Given the description of an element on the screen output the (x, y) to click on. 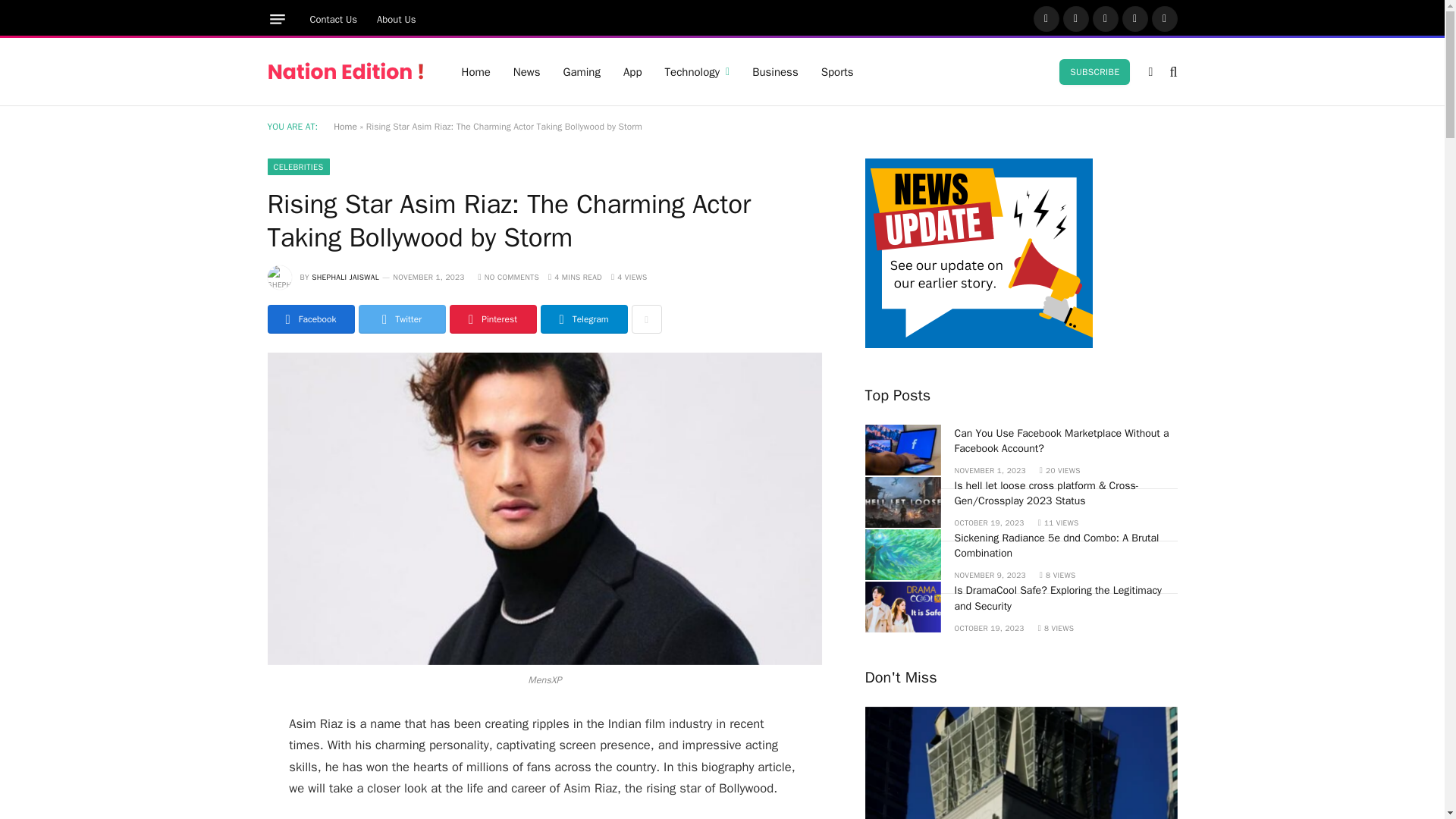
SUBSCRIBE (1094, 71)
Pinterest (1135, 18)
Switch to Dark Design - easier on eyes. (1149, 70)
Posts by Shephali Jaiswal (344, 276)
Instagram (1105, 18)
Technology (697, 71)
Contact Us (333, 19)
Facebook (1045, 18)
Vimeo (1163, 18)
Business (775, 71)
Nation Edition ! (344, 71)
About Us (395, 19)
4 Article Views (629, 276)
